Given the description of an element on the screen output the (x, y) to click on. 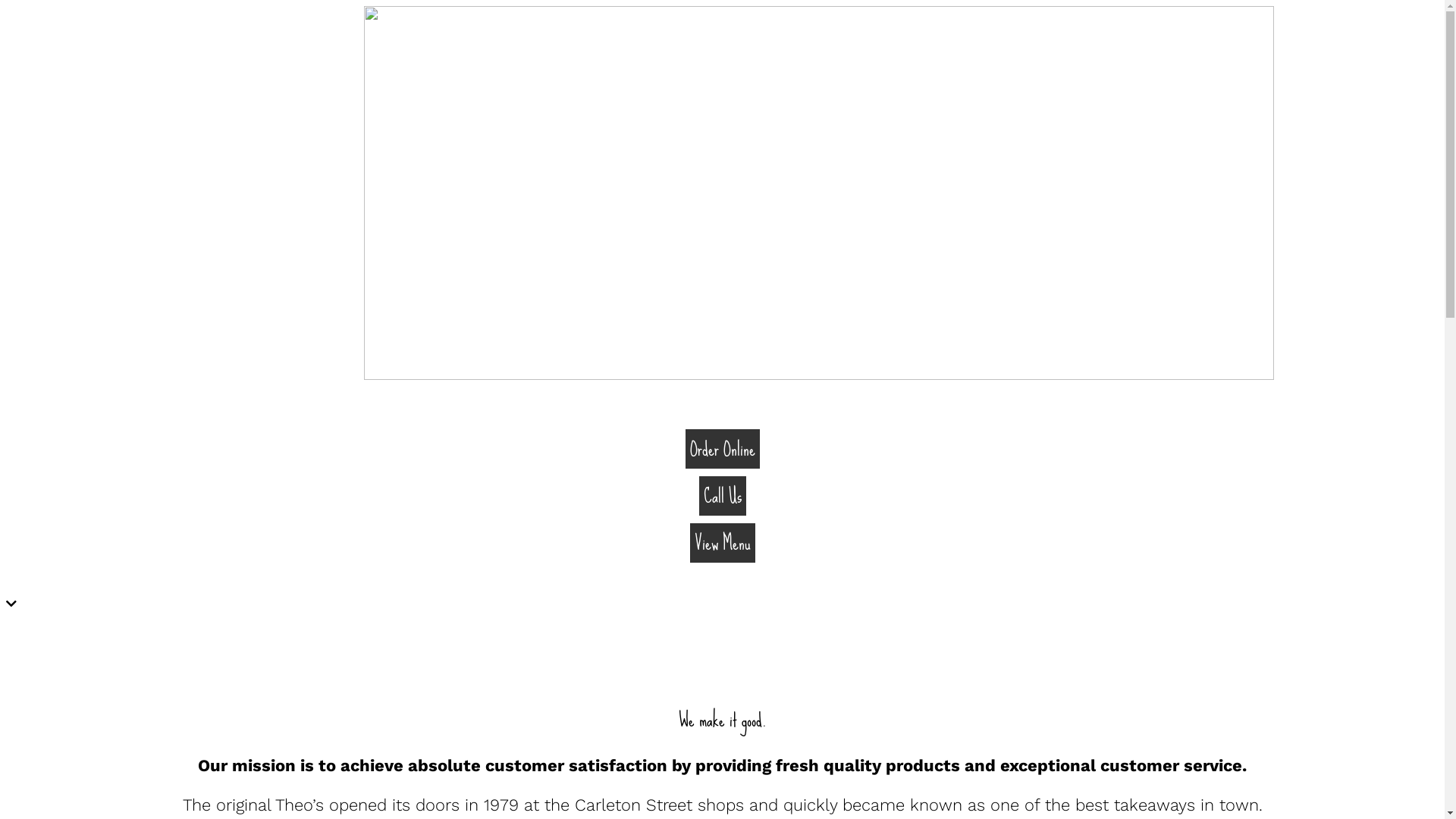
little-theos-large-white Element type: hover (819, 192)
Call Us Element type: text (722, 495)
View Menu Element type: text (722, 542)
Order Online Element type: text (721, 451)
View Menu Element type: text (721, 545)
Call Us Element type: text (721, 498)
Order Online Element type: text (722, 448)
